Given the description of an element on the screen output the (x, y) to click on. 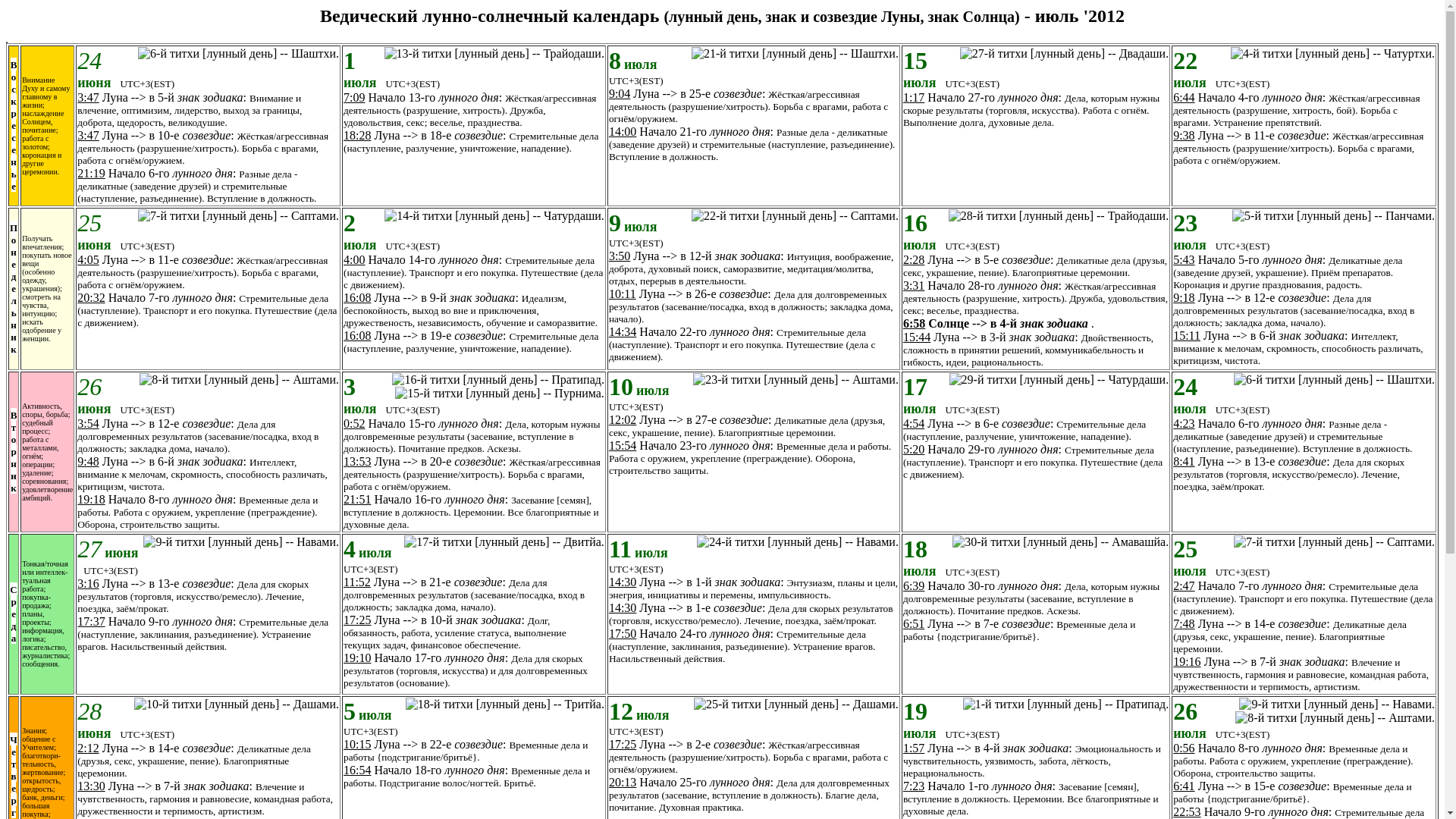
1:17 Element type: text (913, 97)
9:48 Element type: text (87, 461)
20:13 Element type: text (622, 781)
0:56 Element type: text (1183, 747)
0:52 Element type: text (353, 423)
15:11 Element type: text (1186, 335)
5:20 Element type: text (913, 448)
16:54 Element type: text (356, 769)
19:16 Element type: text (1186, 661)
7:09 Element type: text (353, 97)
3:16 Element type: text (87, 583)
13:30 Element type: text (90, 785)
2:12 Element type: text (87, 747)
4:54 Element type: text (913, 423)
5:43 Element type: text (1183, 259)
12:02 Element type: text (622, 419)
20:32 Element type: text (90, 297)
17:50 Element type: text (622, 633)
13:53 Element type: text (356, 461)
3:47 Element type: text (87, 97)
21:51 Element type: text (356, 498)
15:54 Element type: text (622, 445)
8:41 Element type: text (1183, 461)
7:48 Element type: text (1183, 623)
6:41 Element type: text (1183, 785)
1:57 Element type: text (913, 747)
2:47 Element type: text (1183, 585)
7:23 Element type: text (913, 785)
6:58 Element type: text (914, 322)
4:00 Element type: text (353, 259)
3:54 Element type: text (87, 423)
11:52 Element type: text (356, 581)
10:15 Element type: text (356, 743)
3:31 Element type: text (913, 285)
3:47 Element type: text (87, 134)
14:00 Element type: text (622, 131)
3:50 Element type: text (619, 255)
6:44 Element type: text (1183, 97)
6:51 Element type: text (913, 623)
19:18 Element type: text (90, 498)
19:10 Element type: text (356, 657)
14:34 Element type: text (622, 331)
21:19 Element type: text (90, 172)
10:11 Element type: text (622, 293)
2:28 Element type: text (913, 259)
14:30 Element type: text (622, 607)
17:25 Element type: text (356, 619)
9:04 Element type: text (619, 93)
18:28 Element type: text (356, 134)
16:08 Element type: text (356, 335)
4:23 Element type: text (1183, 423)
16:08 Element type: text (356, 297)
9:18 Element type: text (1183, 297)
17:37 Element type: text (90, 621)
14:30 Element type: text (622, 581)
6:39 Element type: text (913, 585)
4:05 Element type: text (87, 259)
9:38 Element type: text (1183, 134)
22:53 Element type: text (1186, 811)
17:25 Element type: text (622, 743)
15:44 Element type: text (916, 336)
